Given the description of an element on the screen output the (x, y) to click on. 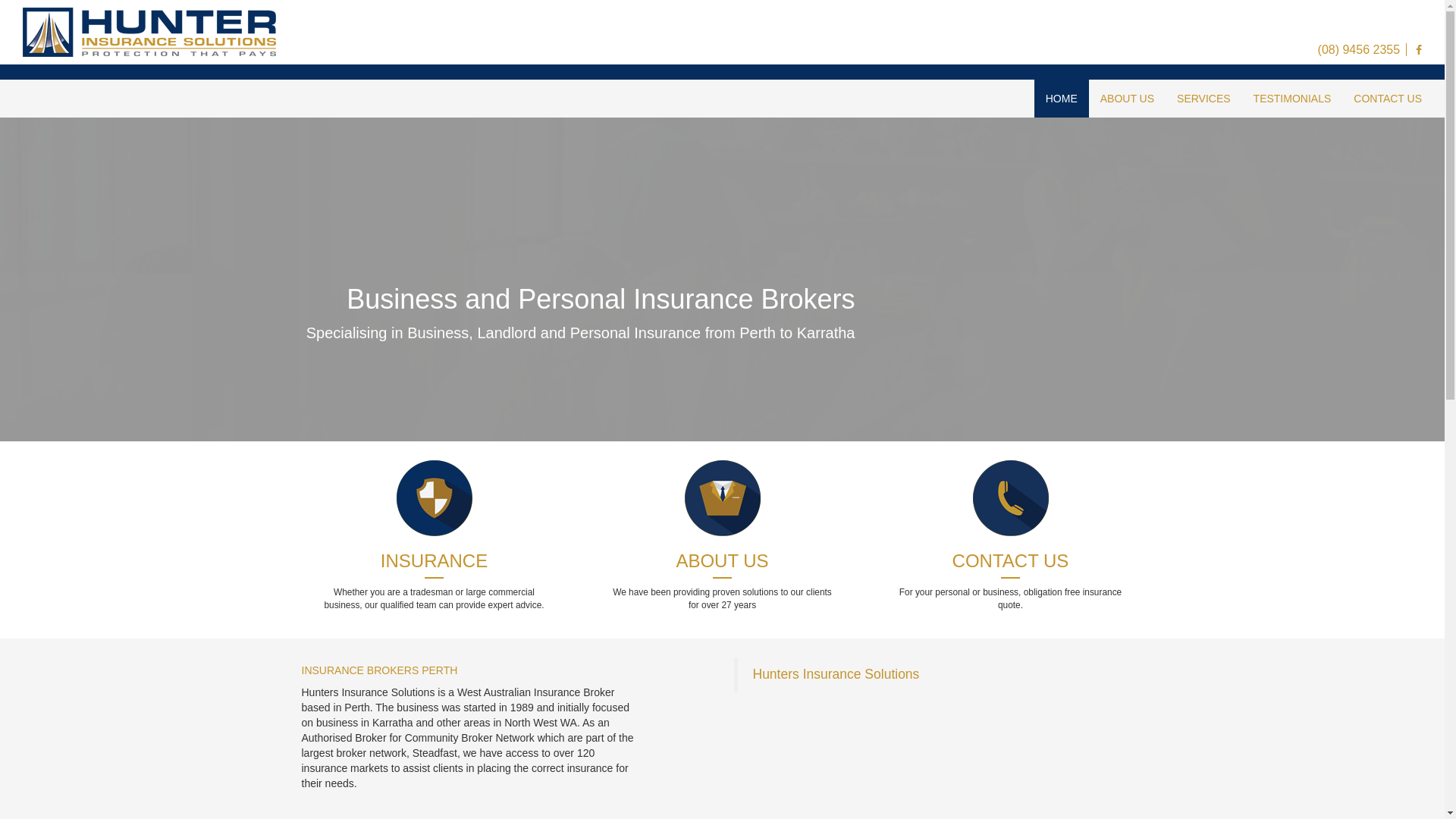
HOME Element type: text (1061, 98)
CONTACT US Element type: text (1387, 98)
ABOUT US Element type: text (1126, 98)
Hunters Insurance Solutions Element type: text (835, 673)
SERVICES Element type: text (1203, 98)
CONTACT US Element type: text (1009, 561)
ABOUT US Element type: text (721, 561)
INSURANCE Element type: text (433, 561)
TESTIMONIALS Element type: text (1292, 98)
